Given the description of an element on the screen output the (x, y) to click on. 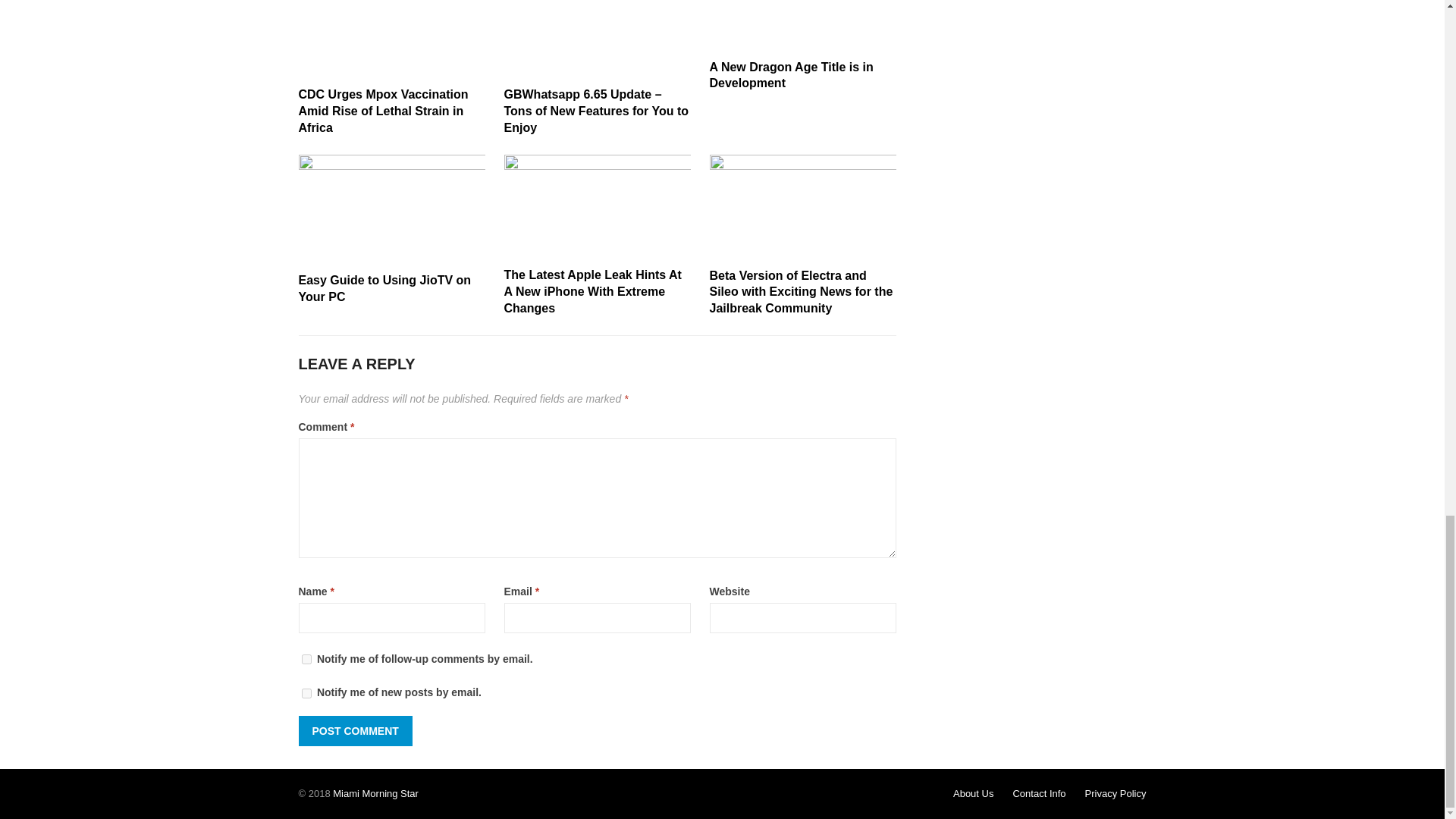
Post Comment (355, 730)
A New Dragon Age Title is in Development (791, 75)
subscribe (306, 693)
Easy Guide to Using JioTV on Your PC (384, 288)
subscribe (306, 659)
